Given the description of an element on the screen output the (x, y) to click on. 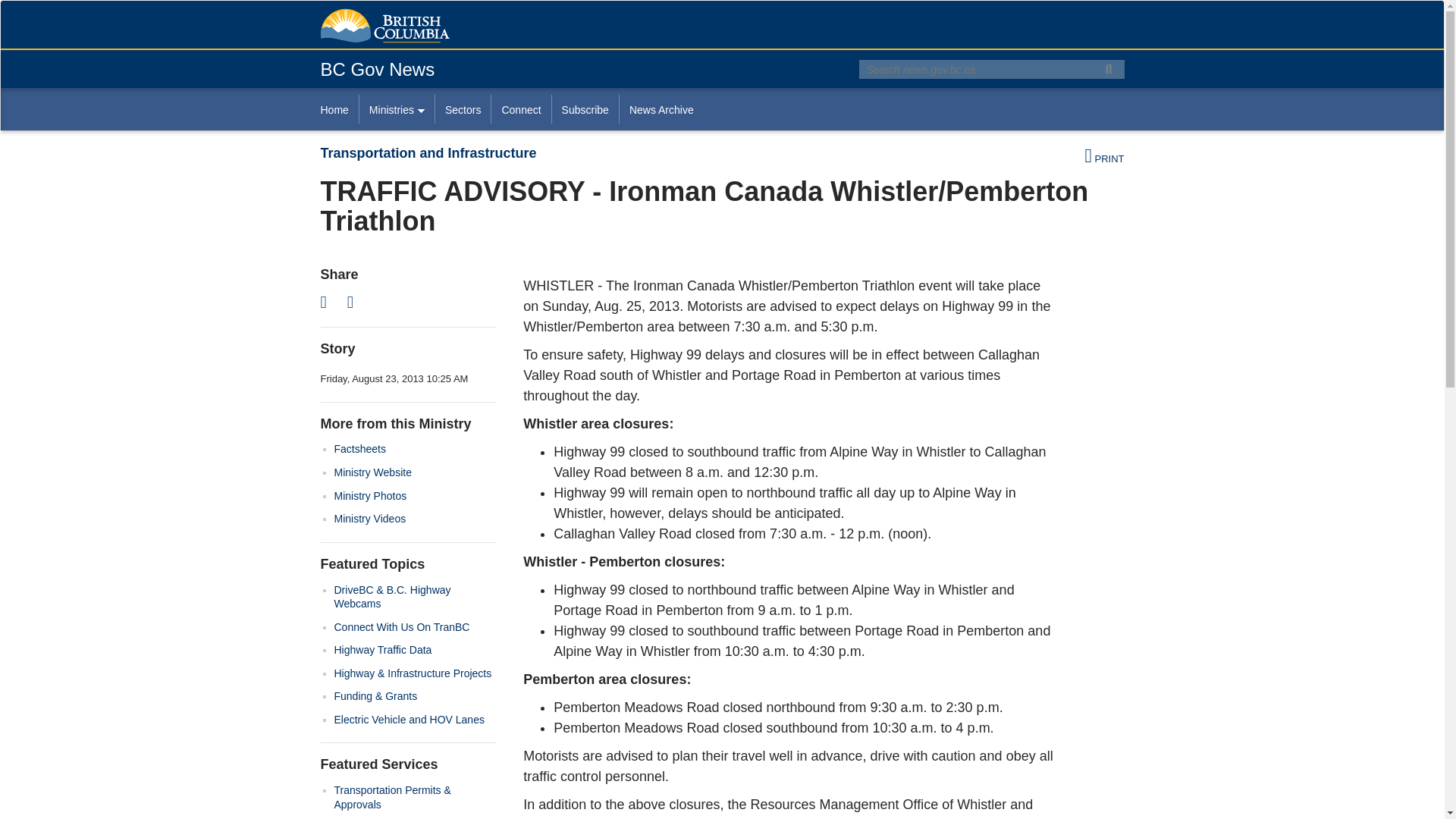
Government of B.C. (384, 25)
Connect (520, 109)
News Archive (660, 109)
Sectors (461, 109)
Home (339, 109)
BC Gov News (376, 68)
Ministries (395, 109)
Subscribe (584, 109)
